Given the description of an element on the screen output the (x, y) to click on. 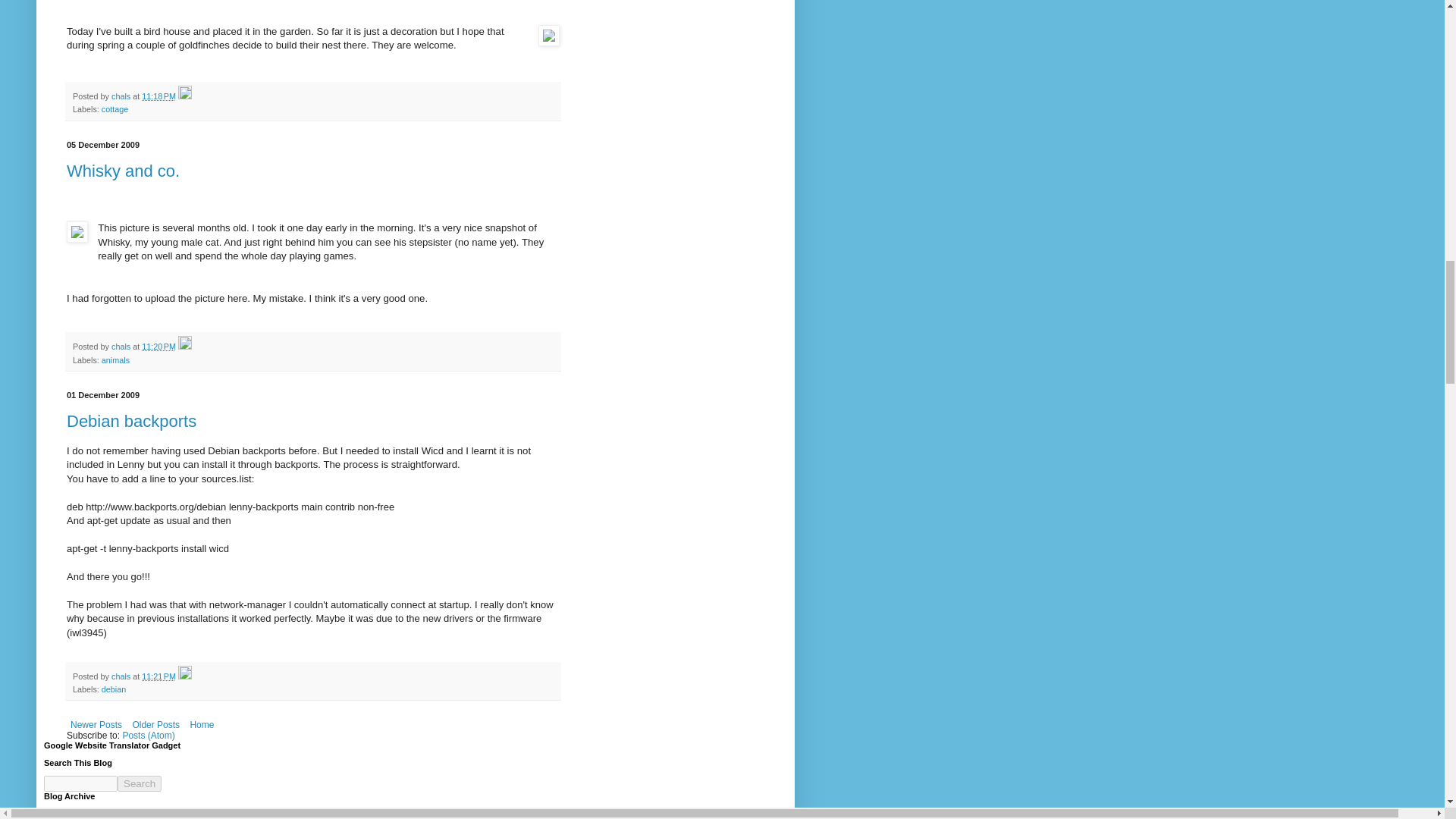
cottage (114, 108)
Whisky and co. (122, 170)
Search (139, 783)
chals (122, 346)
chals (122, 95)
author profile (122, 95)
Search (139, 783)
